Given the description of an element on the screen output the (x, y) to click on. 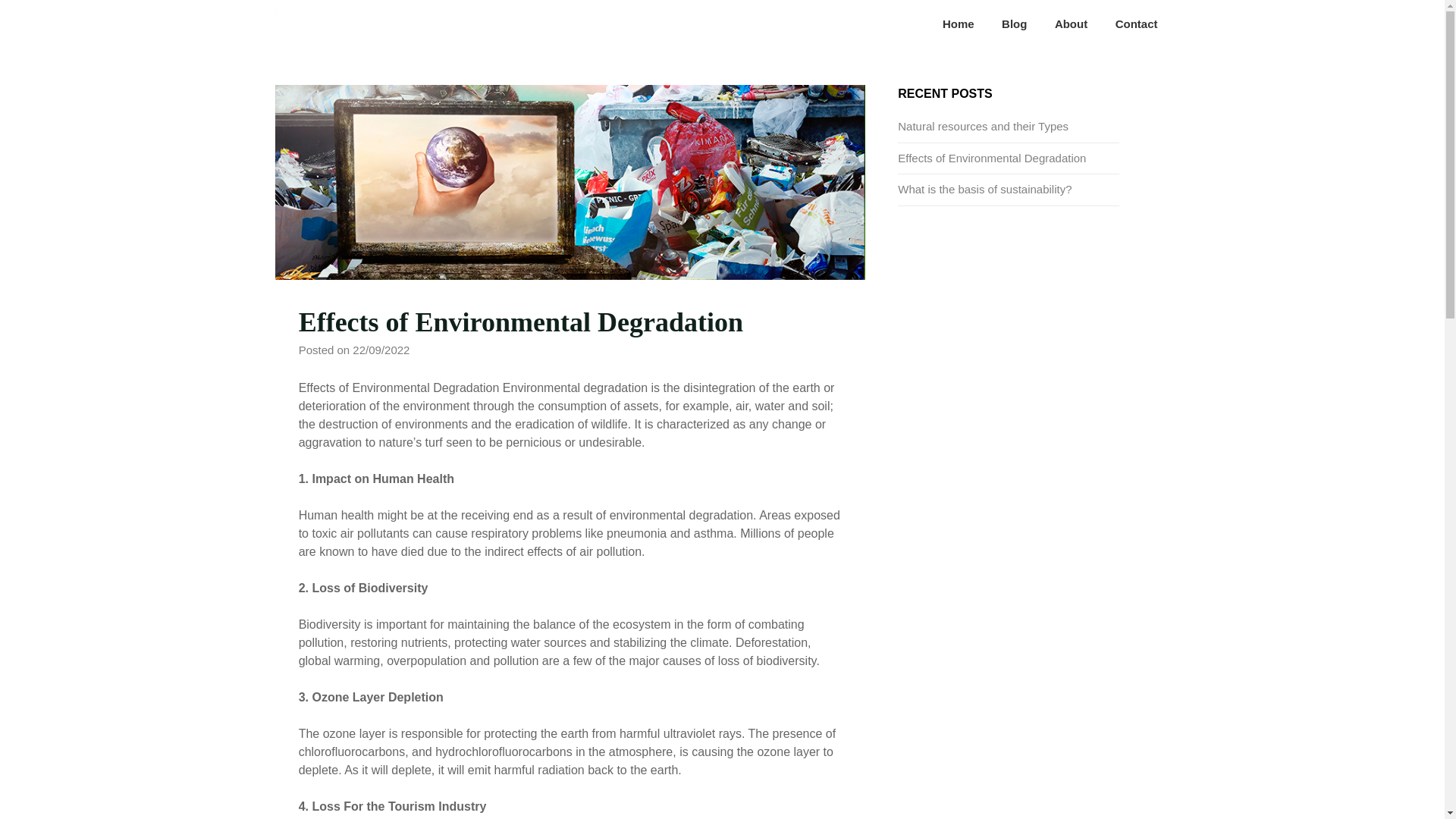
Contact (1136, 24)
Effects of Environmental Degradation (992, 157)
Home (958, 24)
Natural resources and their Types (983, 125)
About (1070, 24)
What is the basis of sustainability? (984, 188)
Blog (1014, 24)
